Given the description of an element on the screen output the (x, y) to click on. 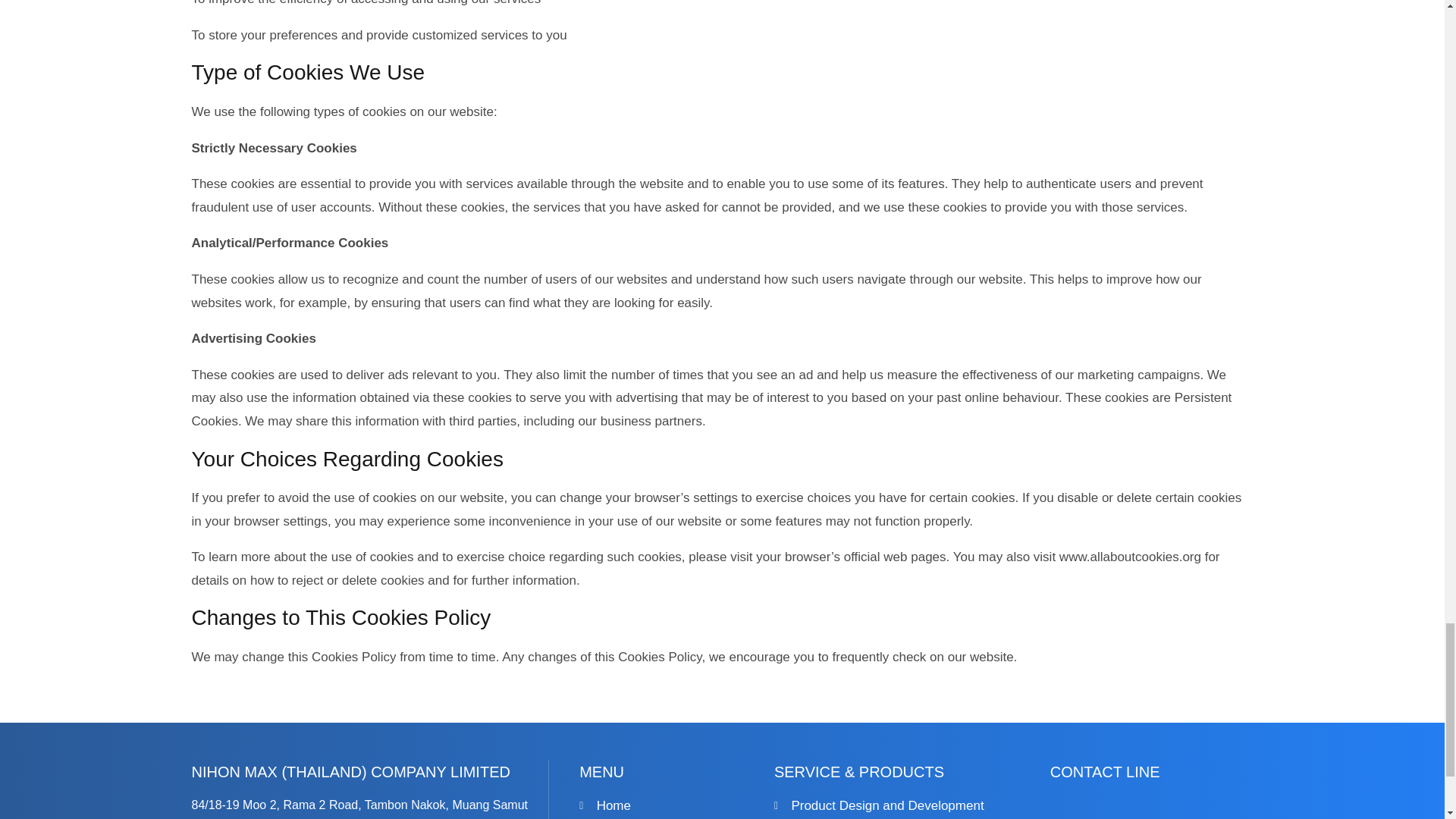
Home (668, 806)
www.allaboutcookies.org (1130, 556)
Product Design and Development (895, 806)
